Given the description of an element on the screen output the (x, y) to click on. 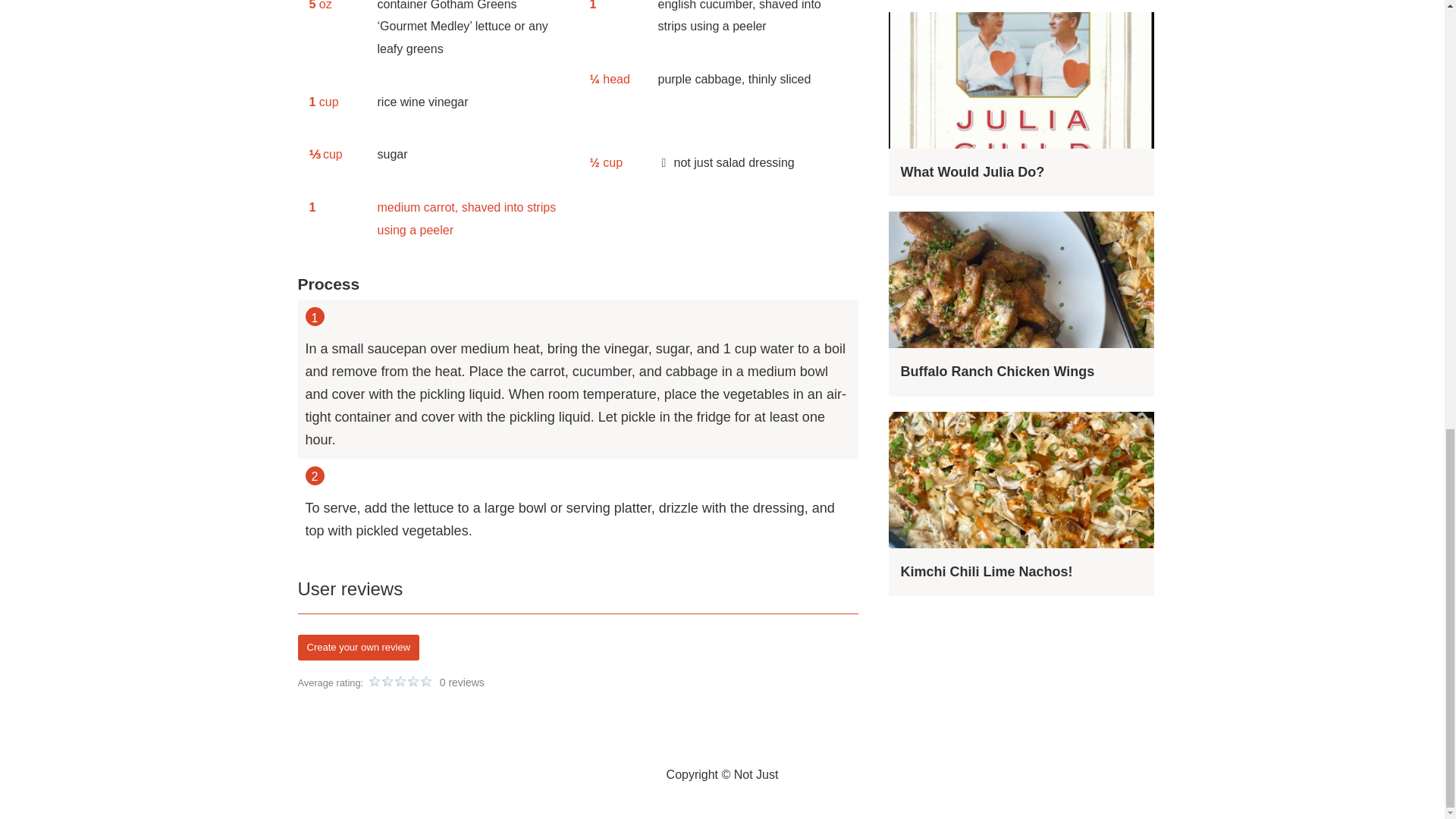
not just salad dressing (751, 163)
Buffalo Ranch Chicken Wings (996, 371)
What Would Julia Do? (971, 171)
Kimchi Chili Lime Nachos! (985, 571)
medium carrot, shaved into strips using a peeler (471, 218)
What Would Julia Do? (971, 171)
Buffalo Ranch Chicken Wings (996, 371)
Kimchi Chili Lime Nachos! (985, 571)
